Given the description of an element on the screen output the (x, y) to click on. 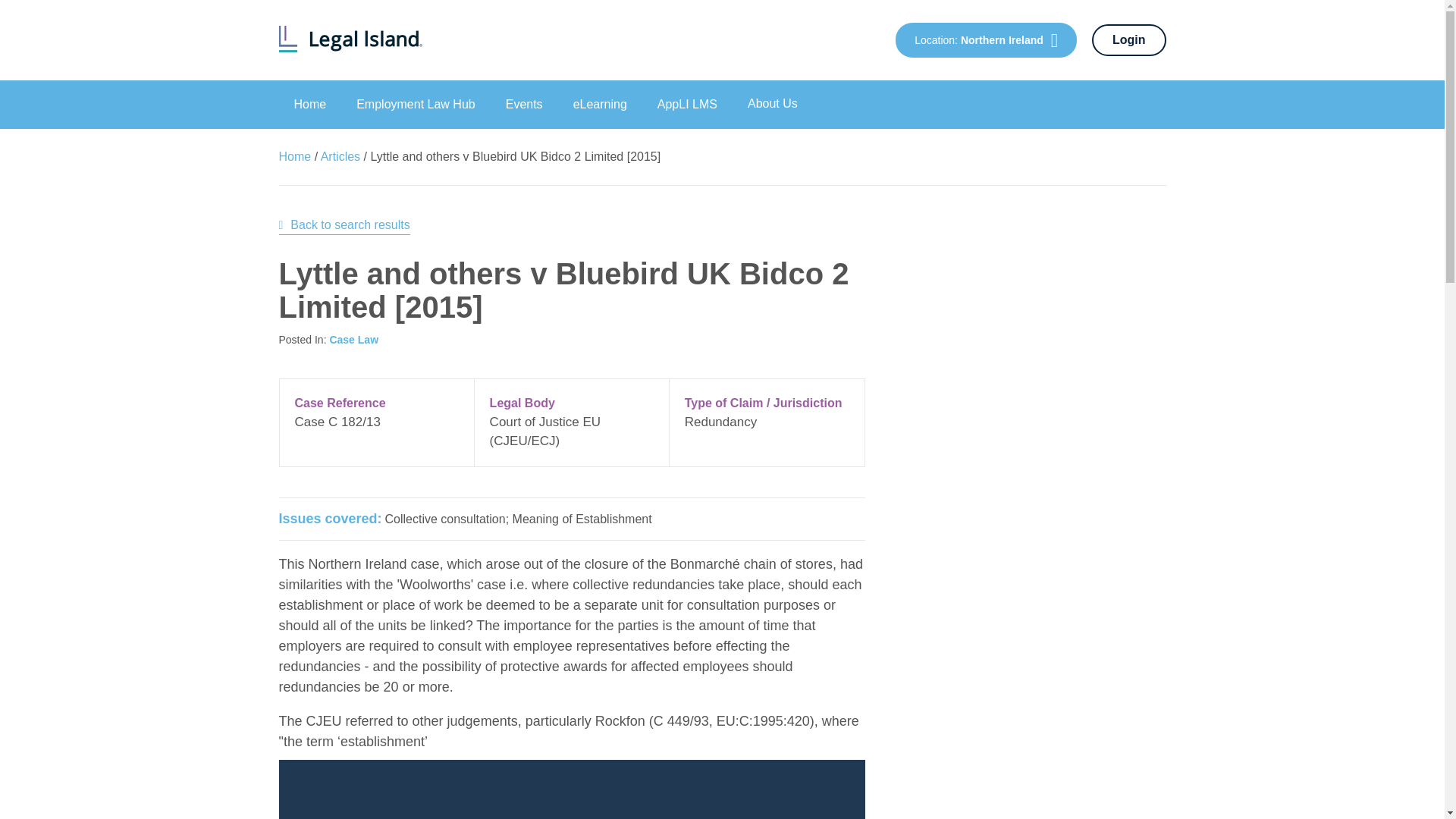
eLearning (599, 104)
Case Law (353, 339)
Home (295, 155)
Login (1129, 40)
Employment Law Hub (415, 104)
Login (1129, 40)
About Us (772, 104)
Legal Island, logo (350, 47)
Location: Northern Ireland (986, 39)
Articles (342, 155)
Back to search results (344, 225)
Events (523, 104)
Home (310, 104)
AppLI LMS (687, 104)
